Given the description of an element on the screen output the (x, y) to click on. 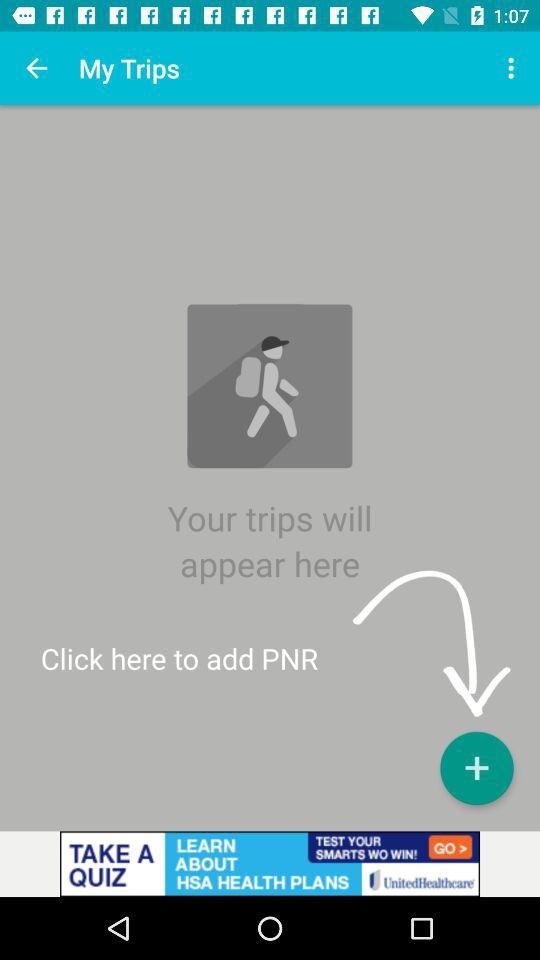
add pnr (476, 768)
